Given the description of an element on the screen output the (x, y) to click on. 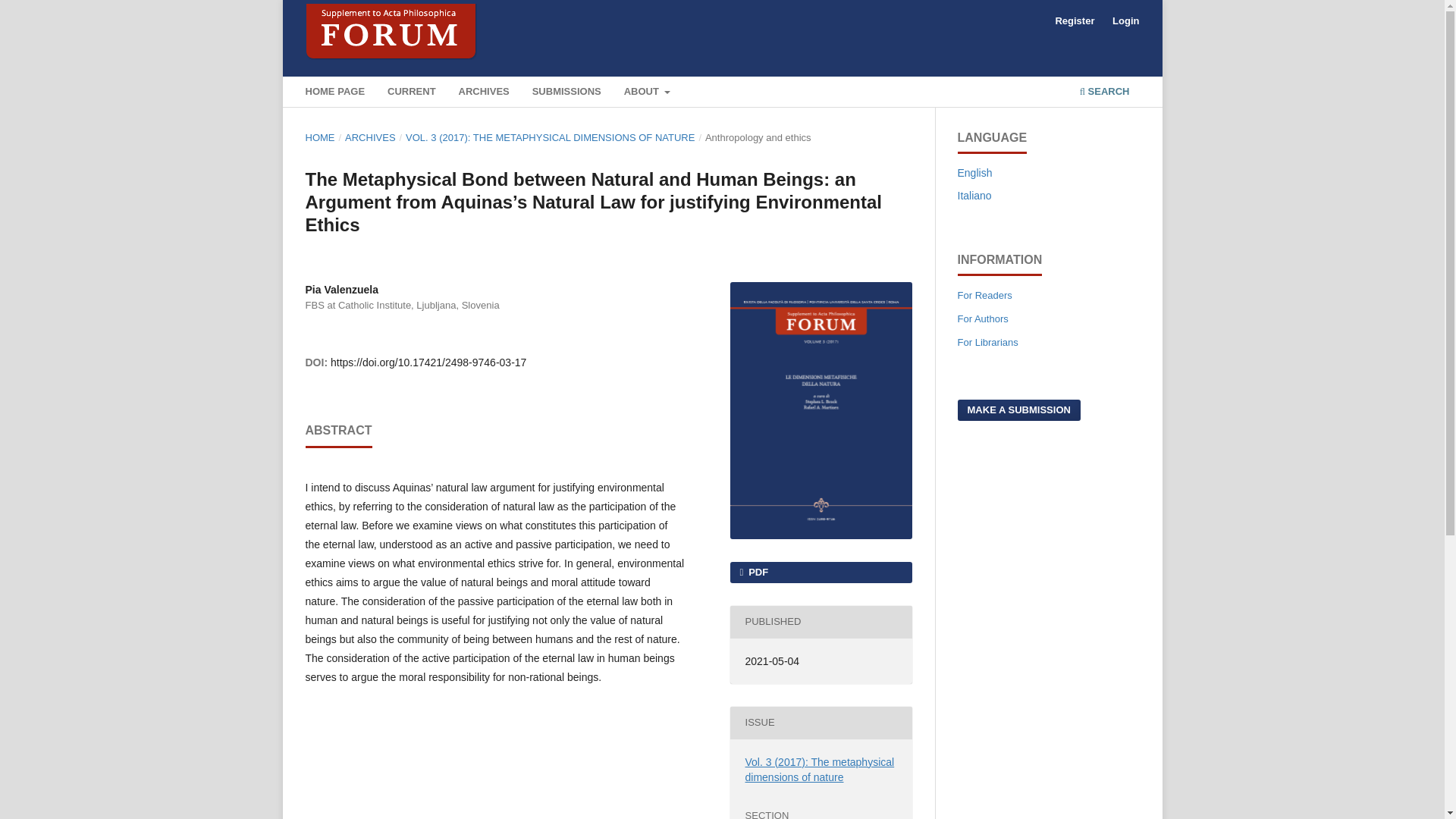
ARCHIVES (370, 137)
Register (1074, 20)
English (973, 173)
HOME (319, 137)
ARCHIVES (482, 93)
For Readers (983, 295)
Italiano (973, 195)
For Authors (981, 318)
HOME PAGE (334, 93)
SEARCH (1104, 93)
